Given the description of an element on the screen output the (x, y) to click on. 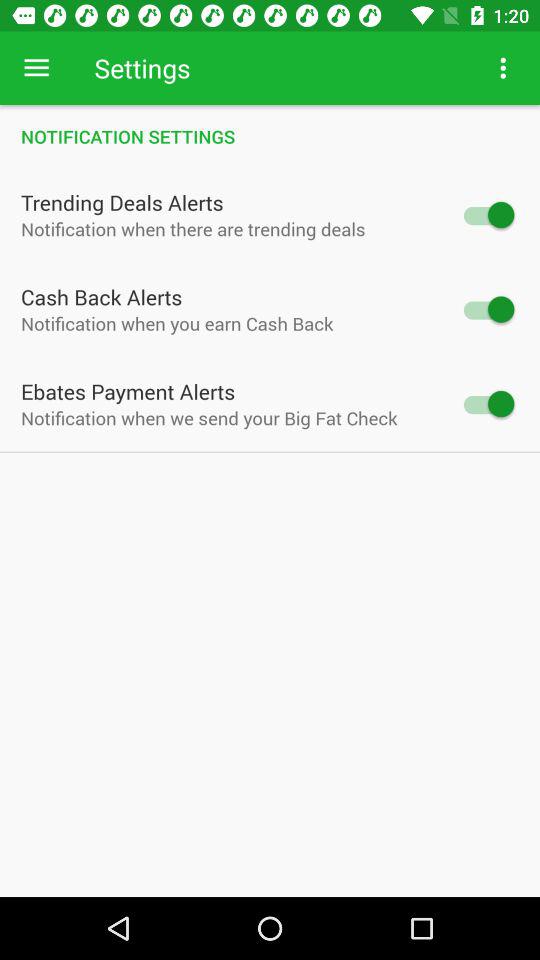
select item to the right of settings item (503, 68)
